Given the description of an element on the screen output the (x, y) to click on. 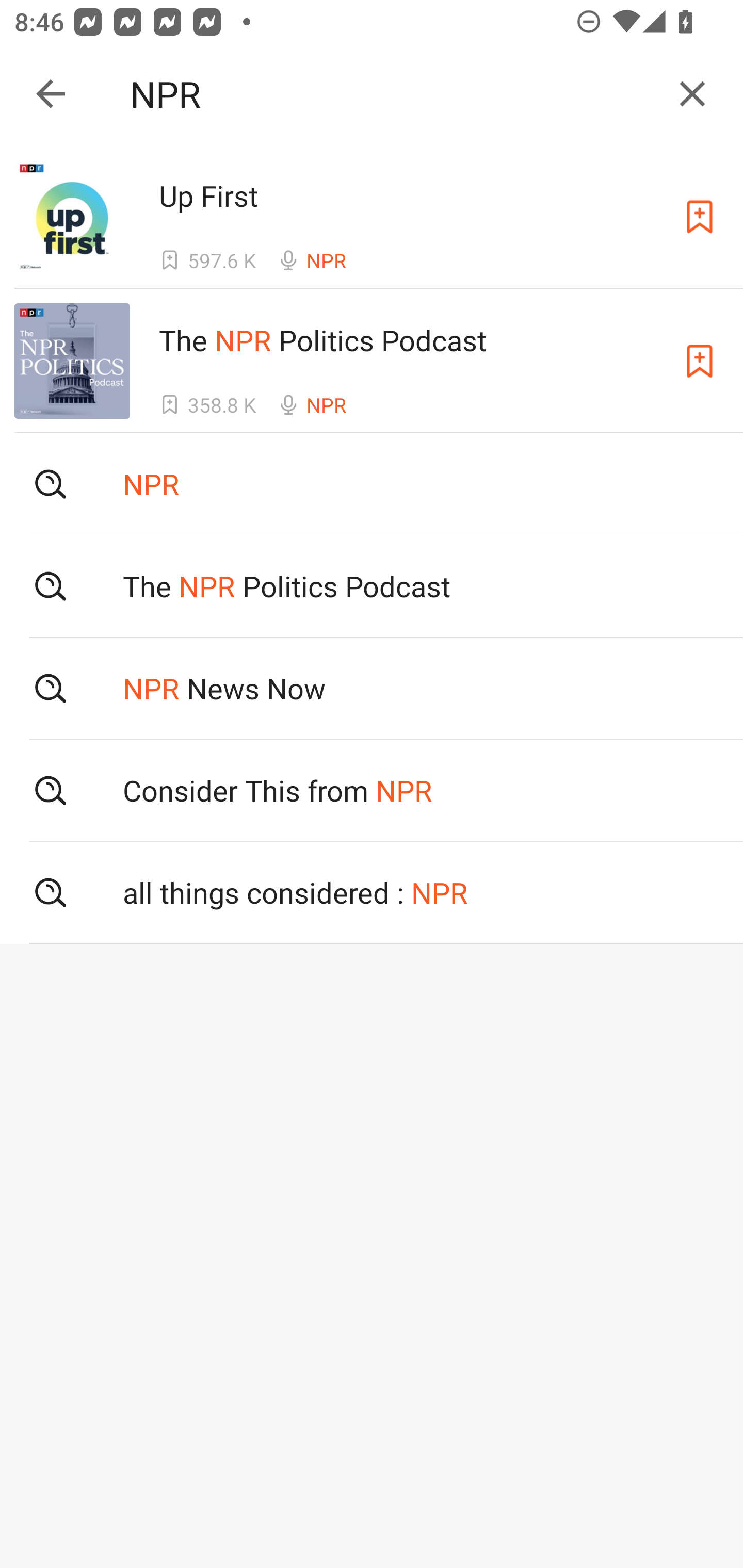
Collapse (50, 93)
Clear query (692, 93)
NPR (393, 94)
Up First Up First  597.6 K  NPR Subscribe (371, 216)
Subscribe (699, 216)
Subscribe (699, 360)
 NPR (371, 483)
 The NPR Politics Podcast (371, 585)
 NPR News Now (371, 688)
 Consider This from NPR (371, 791)
 all things considered : NPR (371, 892)
